Given the description of an element on the screen output the (x, y) to click on. 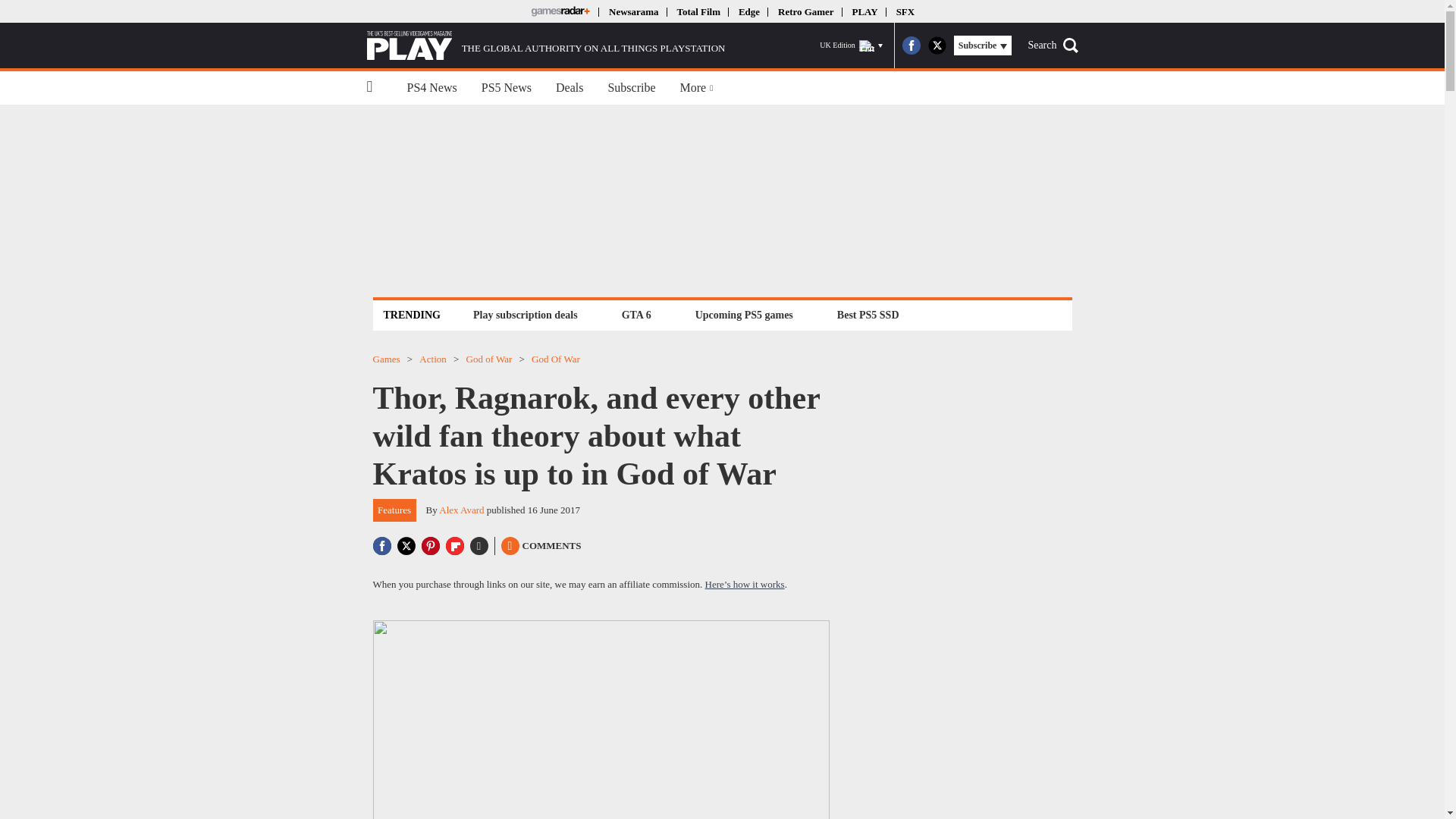
Edge (749, 11)
Upcoming PS5 games (743, 314)
PLAY (864, 11)
Deals (569, 87)
Newsarama (633, 11)
Retro Gamer (805, 11)
Play subscription deals (525, 314)
GTA 6 (635, 314)
PS4 News (431, 87)
THE GLOBAL AUTHORITY ON ALL THINGS PLAYSTATION (545, 44)
